Given the description of an element on the screen output the (x, y) to click on. 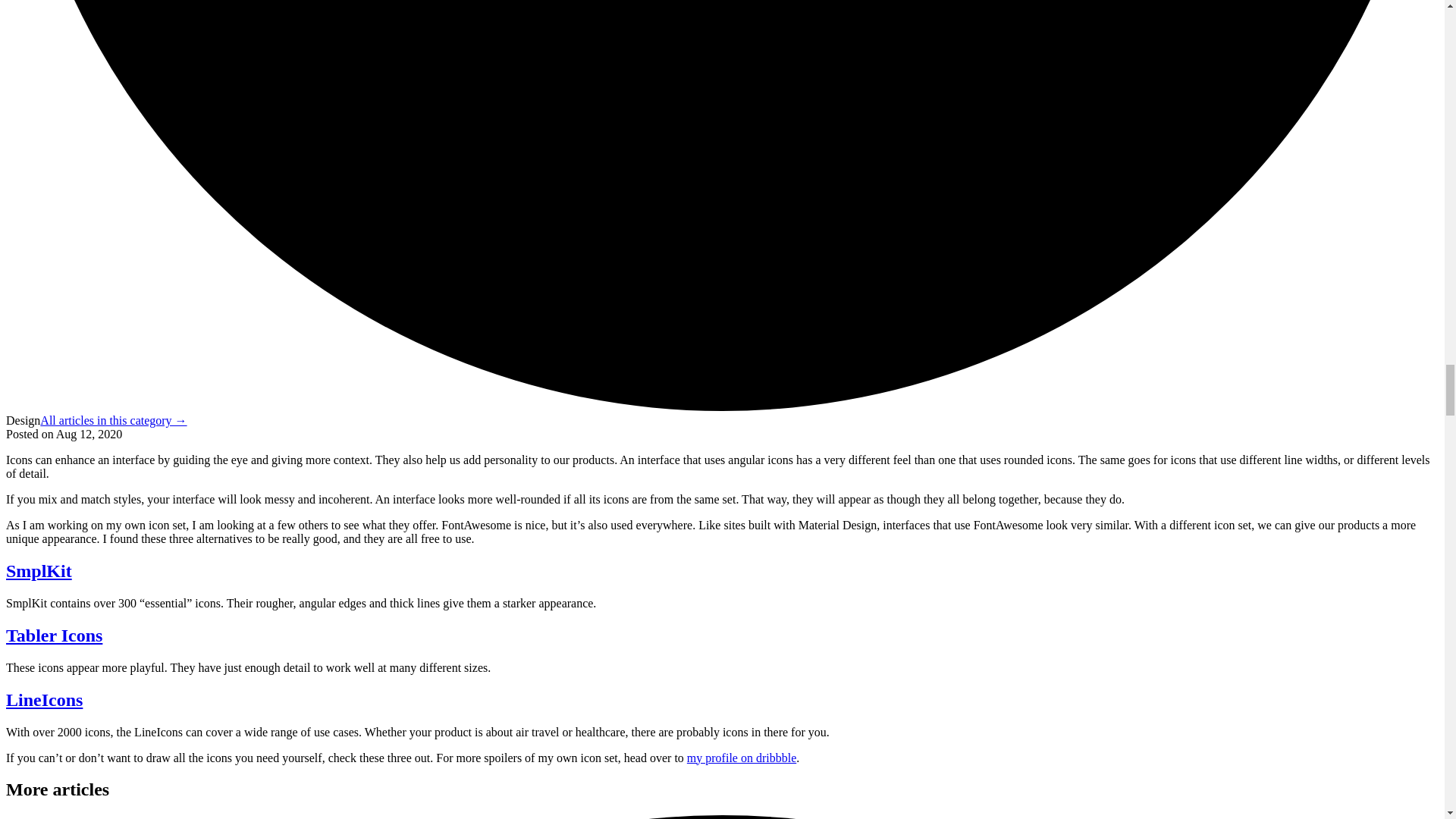
SmplKit (38, 570)
LineIcons (43, 700)
my profile on dribbble (741, 757)
Tabler Icons (53, 635)
